Given the description of an element on the screen output the (x, y) to click on. 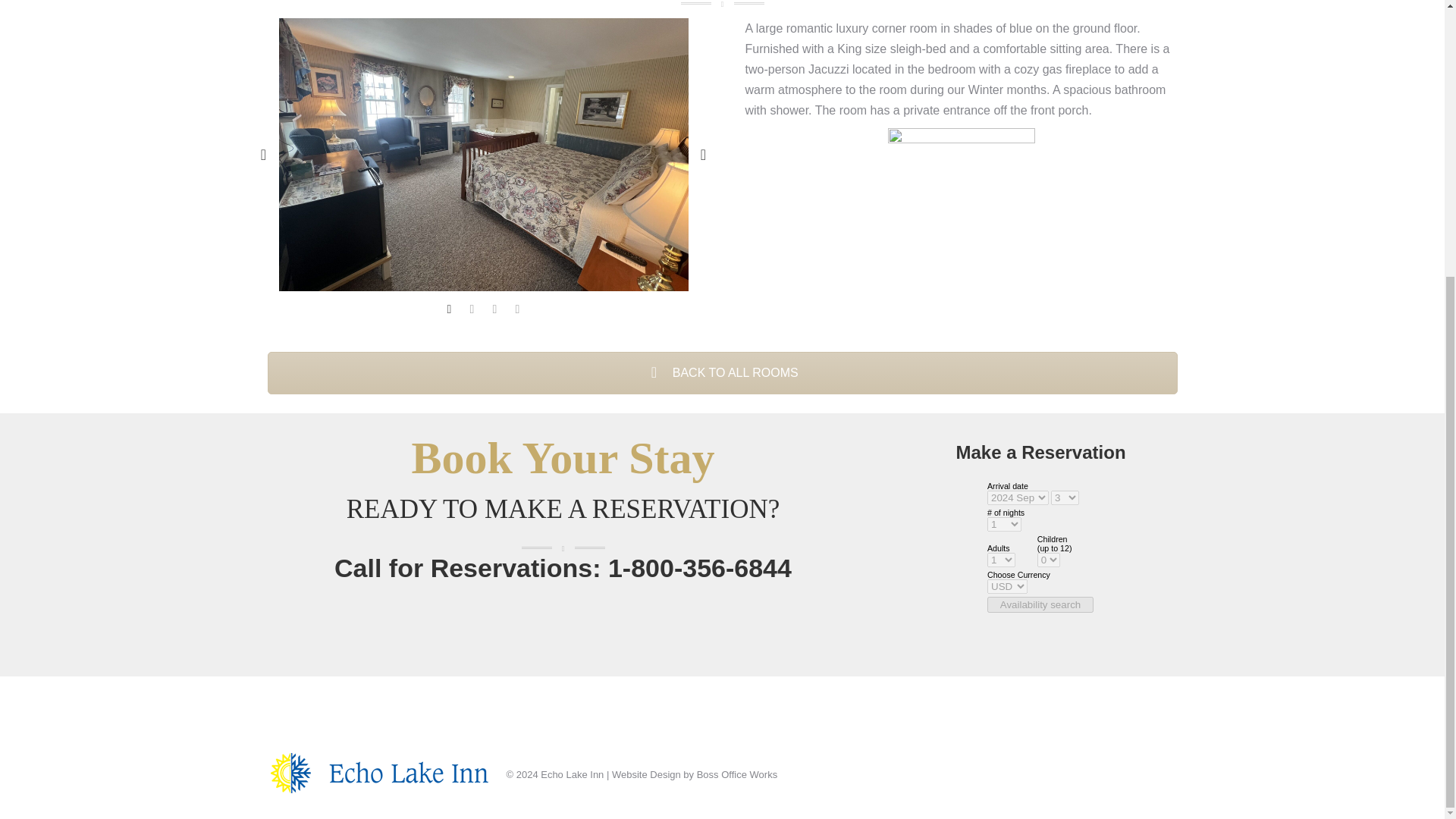
MRG-1 (483, 154)
In-room-Jacuzzi-Tub-and-fireplace-vermont (959, 159)
Our Rooms (721, 372)
